Given the description of an element on the screen output the (x, y) to click on. 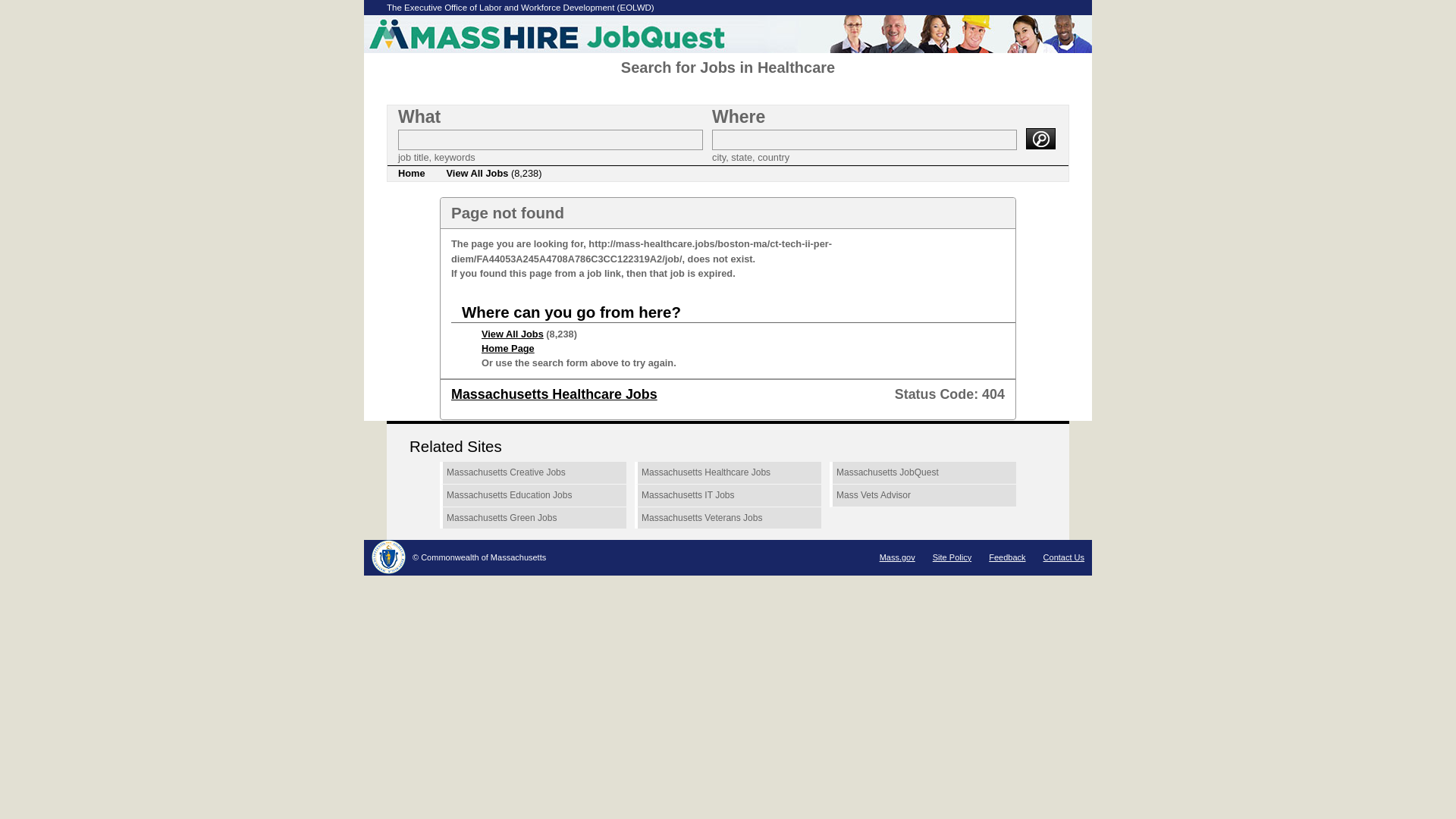
Massachusetts JobQuest (922, 472)
Massachusetts Veterans Jobs (727, 517)
Contact Us (1063, 556)
View All Jobs (512, 333)
Mass.gov (897, 556)
Massachusetts IT Jobs (727, 495)
Massachusetts Healthcare Jobs (554, 394)
Site Policy (952, 556)
Submit Search (1040, 138)
Massachusetts Creative Jobs (532, 472)
search (1040, 138)
Contact Us (1063, 556)
Feedback (1006, 556)
Home Page (507, 348)
